Given the description of an element on the screen output the (x, y) to click on. 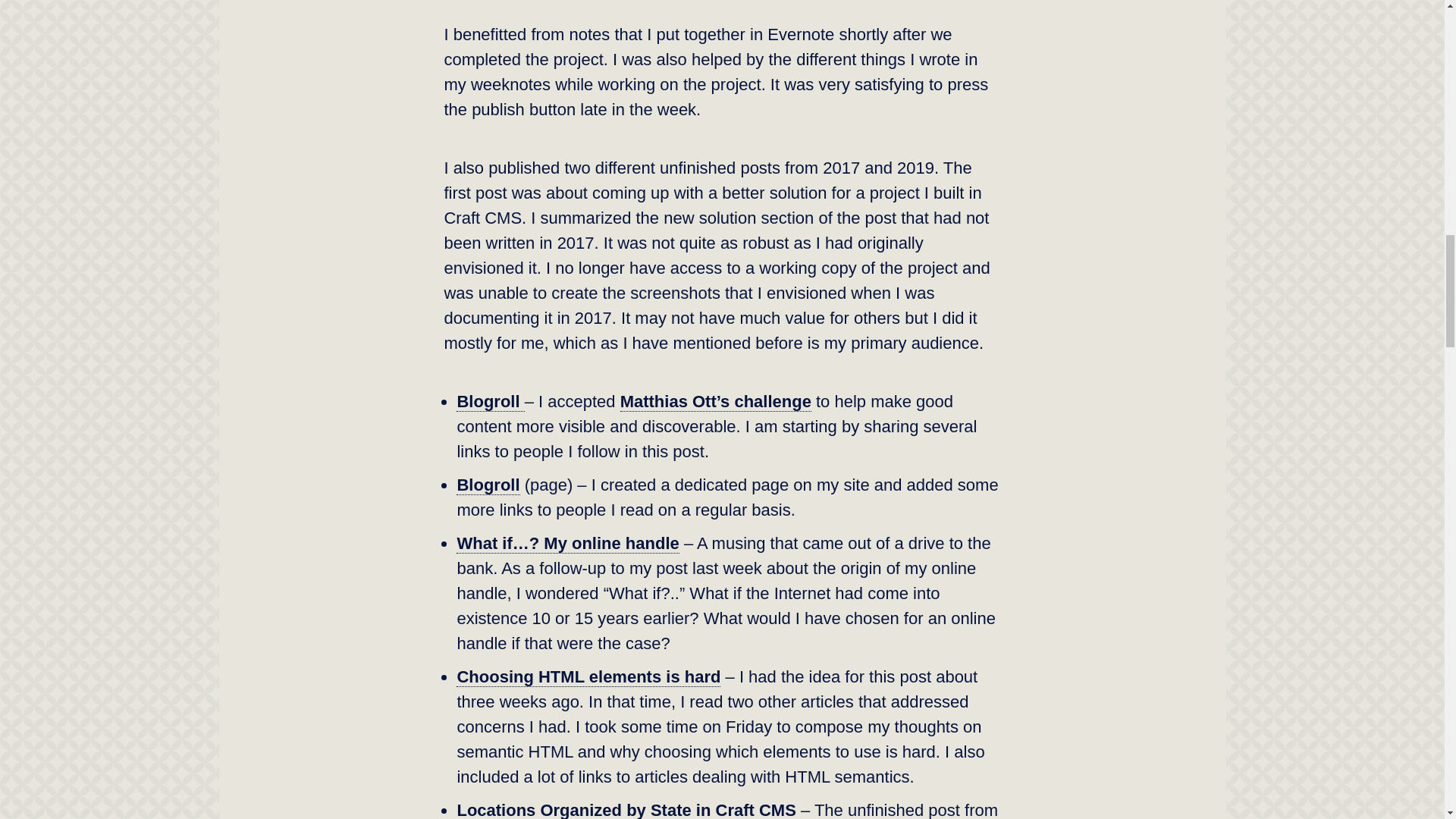
Blogroll (490, 401)
Locations Organized by State in Craft CMS (625, 809)
Choosing HTML elements is hard (588, 677)
Blogroll (488, 485)
